Given the description of an element on the screen output the (x, y) to click on. 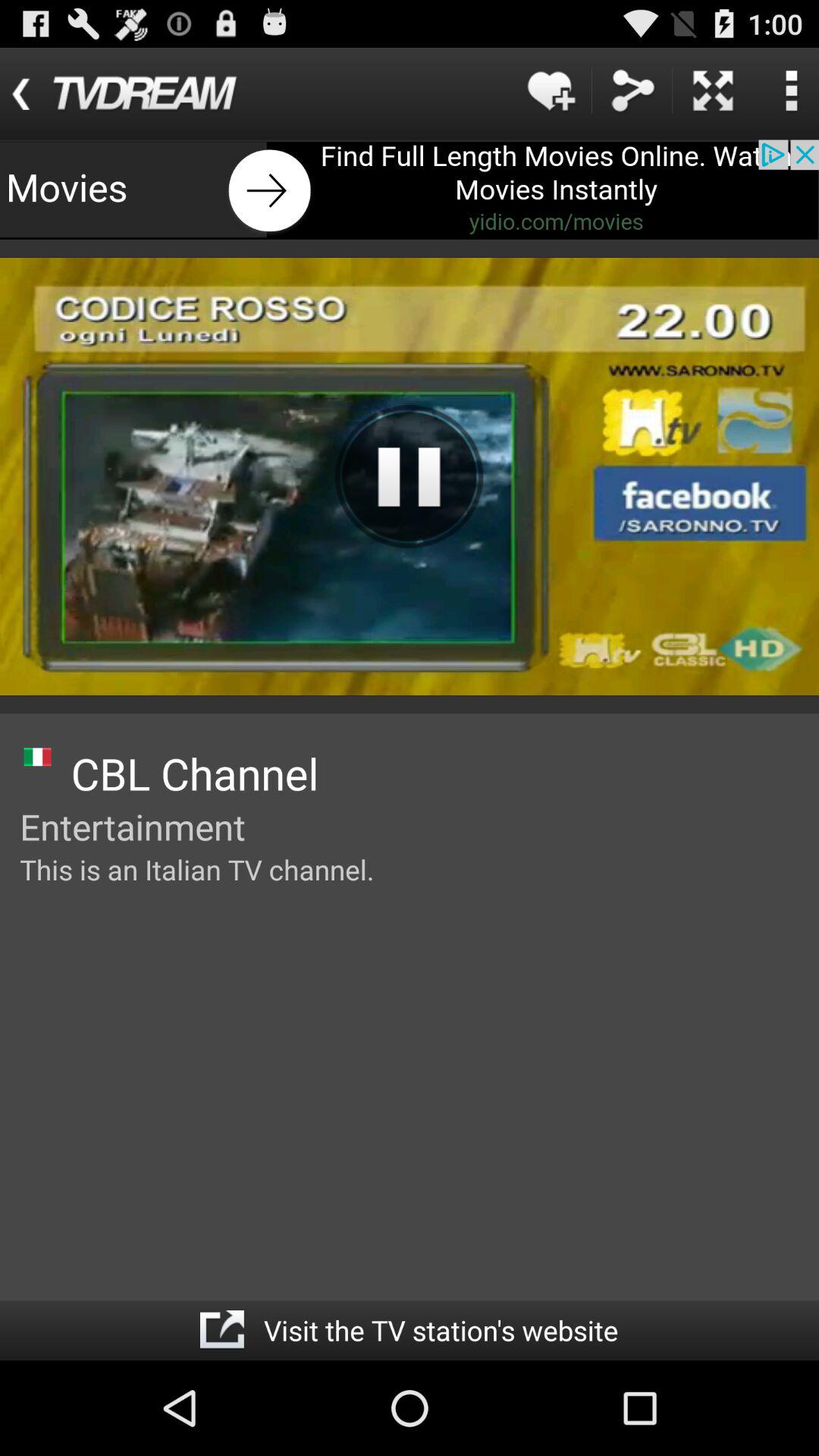
go to site (221, 1330)
